Given the description of an element on the screen output the (x, y) to click on. 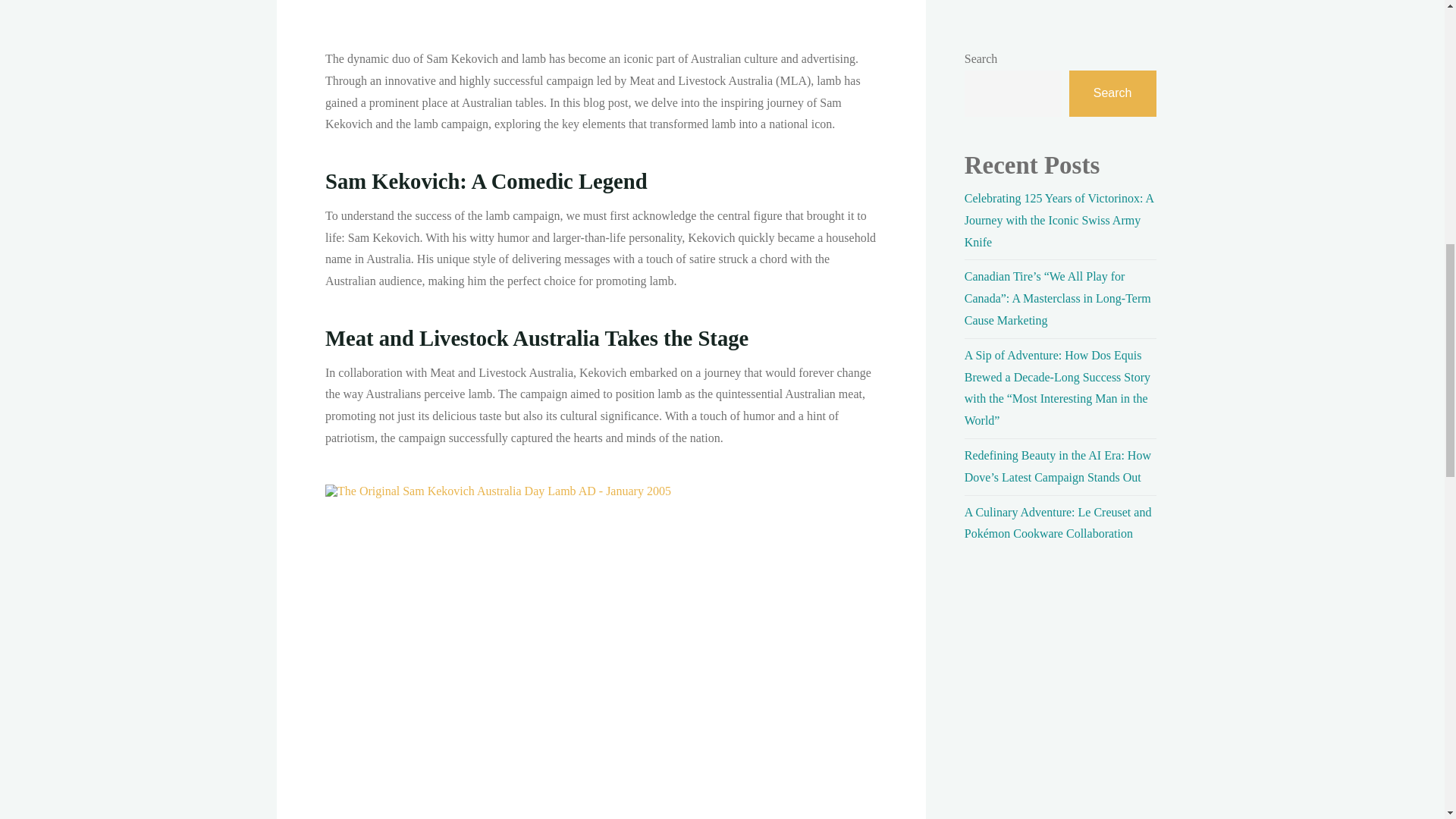
Search (1112, 93)
